Given the description of an element on the screen output the (x, y) to click on. 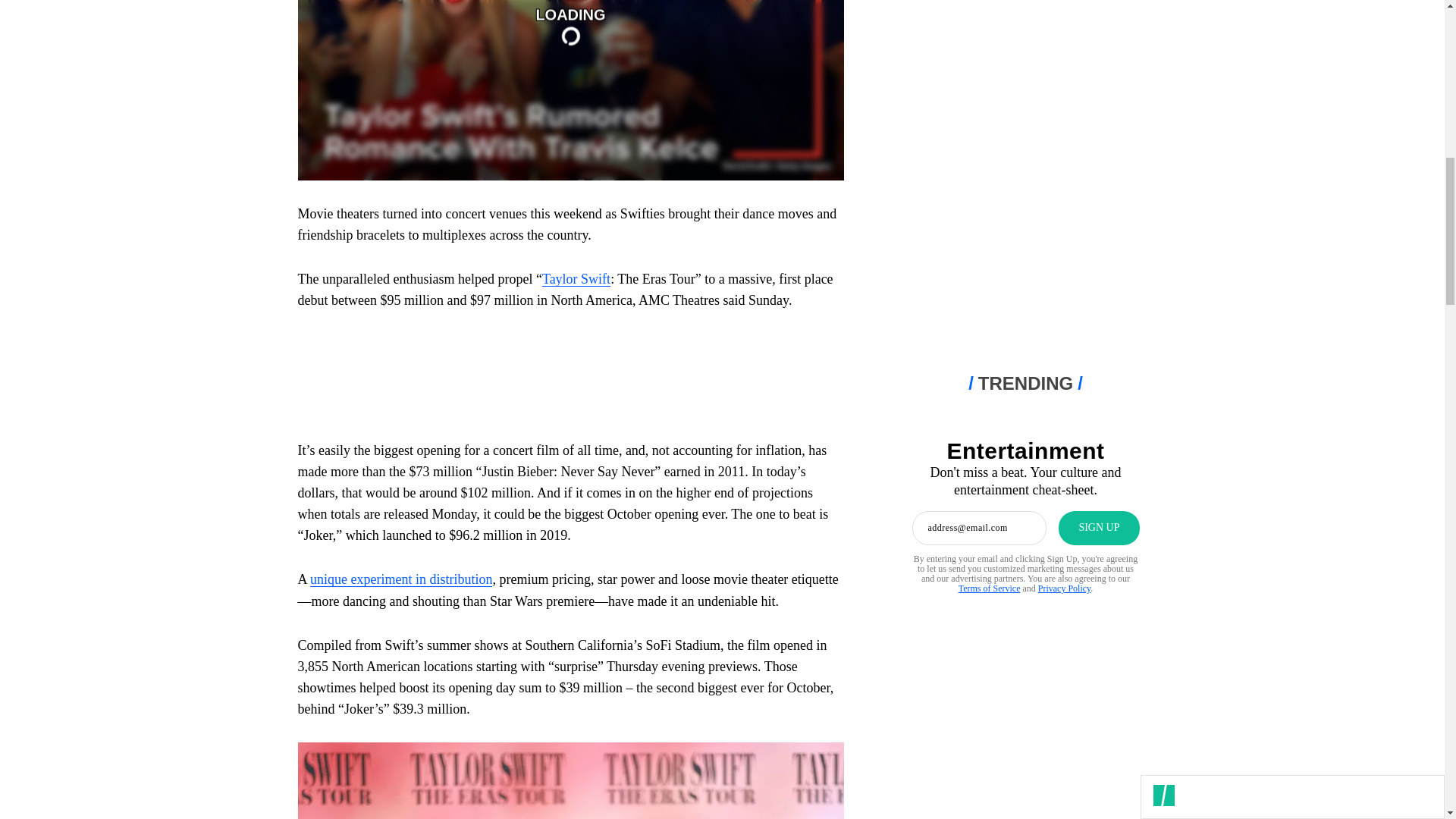
SIGN UP (1098, 528)
